Given the description of an element on the screen output the (x, y) to click on. 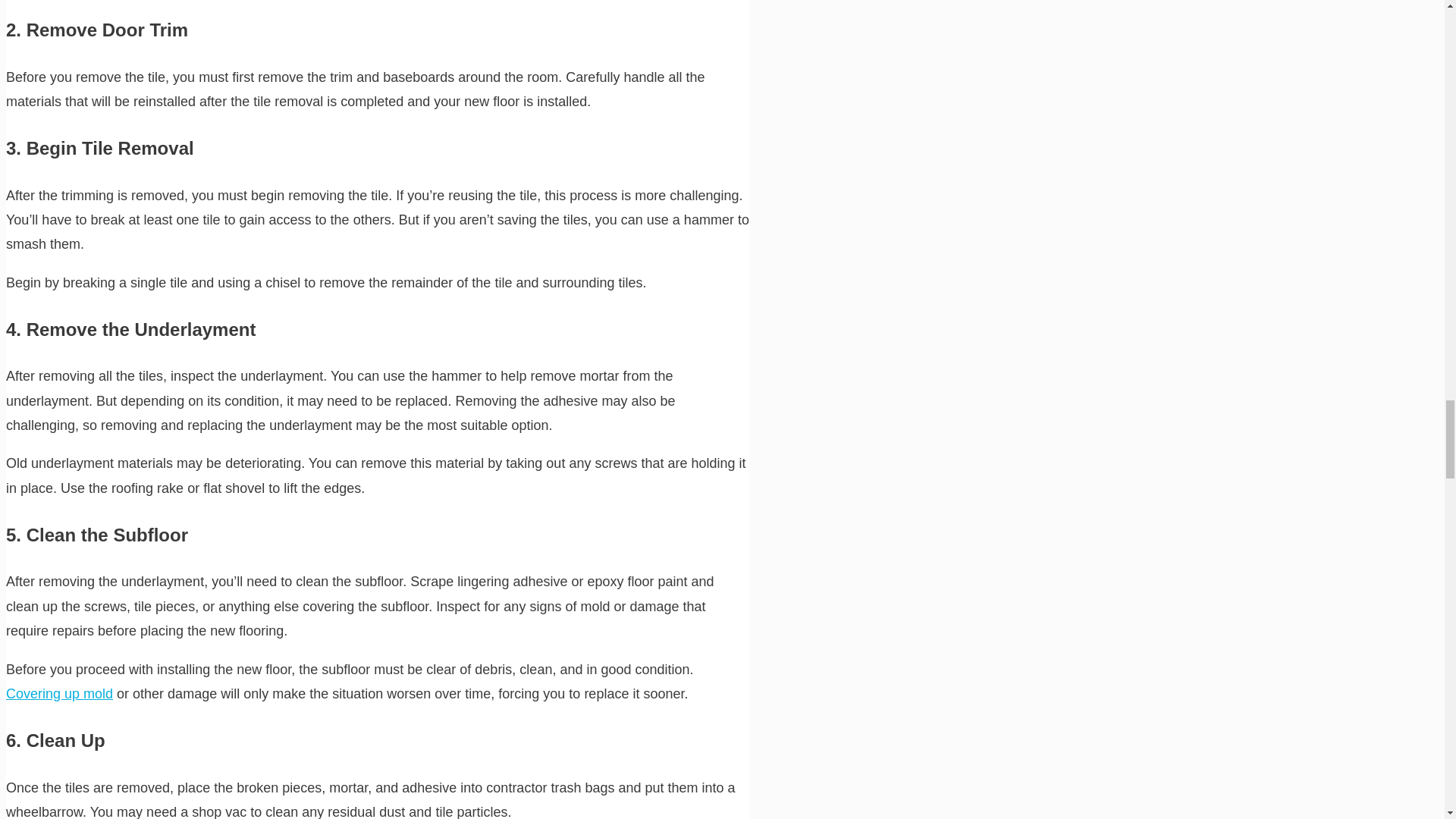
Covering up mold (59, 693)
